Given the description of an element on the screen output the (x, y) to click on. 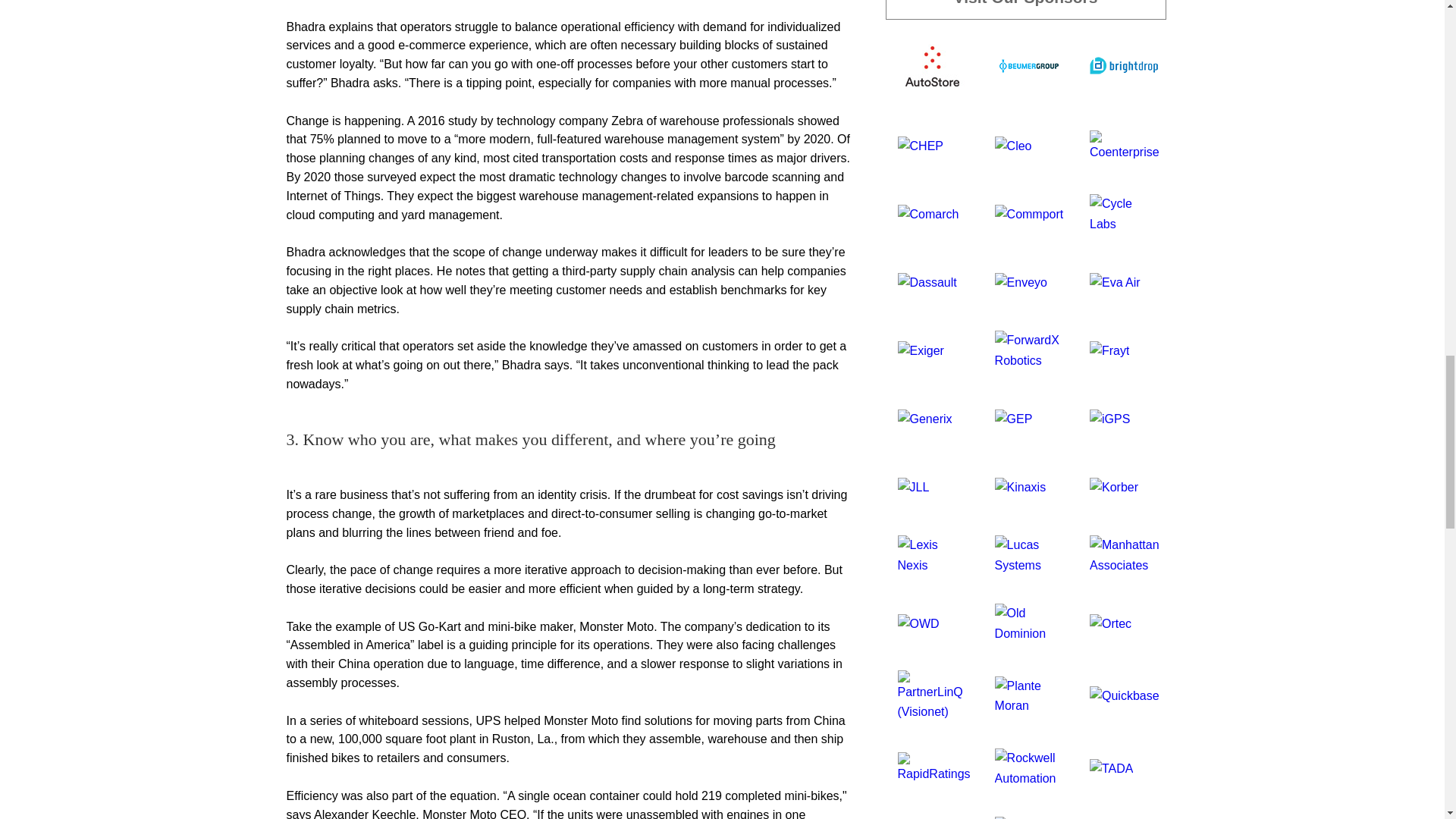
Brightdrop (1123, 64)
Coenterprise (1123, 144)
Cleo (1013, 144)
AutoStore (932, 64)
Comarch (928, 213)
CHEP (920, 144)
Commport (1029, 213)
Enveyo (1020, 281)
Dassault (927, 281)
Cycle Labs (1123, 213)
